Given the description of an element on the screen output the (x, y) to click on. 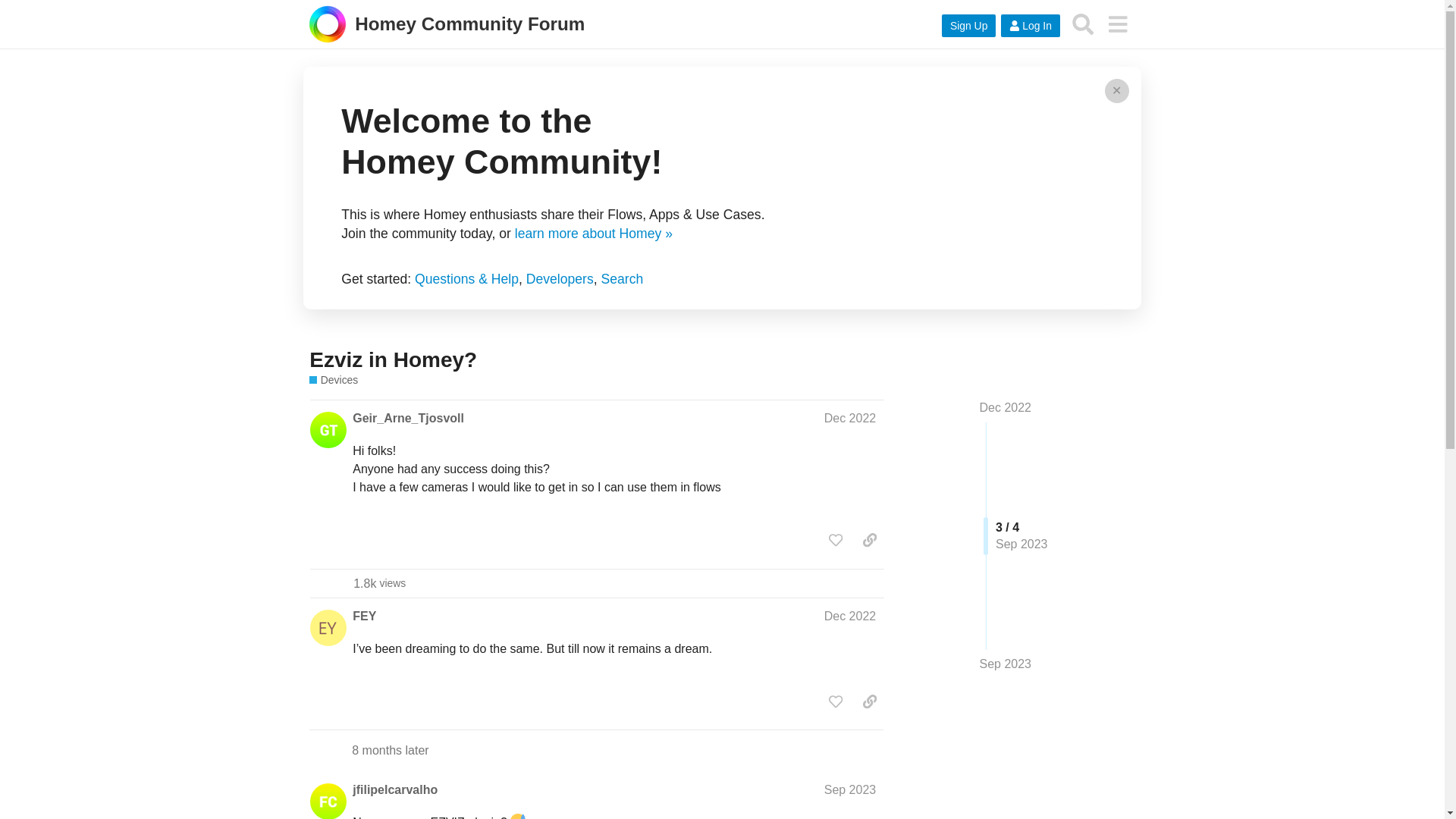
Dec 2022 (850, 615)
Search (622, 278)
Post date (850, 615)
Jump to the last post (1005, 663)
jfilipelcarvalho (379, 583)
Post date (395, 790)
Sep 2023 (850, 789)
copy a link to this post to clipboard (850, 789)
